Given the description of an element on the screen output the (x, y) to click on. 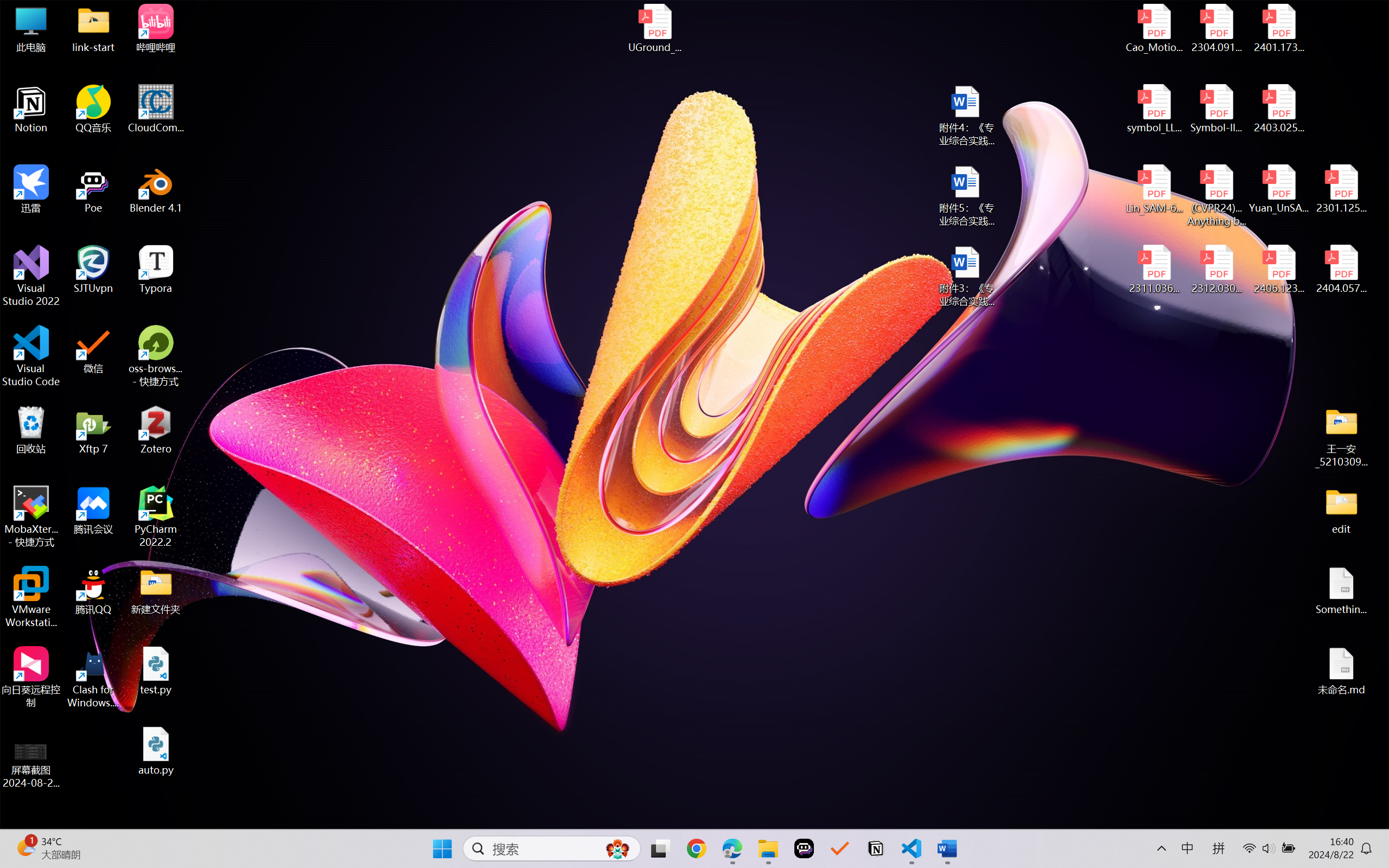
Poe (93, 189)
Visual Studio 2022 (31, 276)
Notion (875, 848)
2304.09121v3.pdf (1216, 28)
Visual Studio Code (31, 355)
SJTUvpn (93, 269)
